Given the description of an element on the screen output the (x, y) to click on. 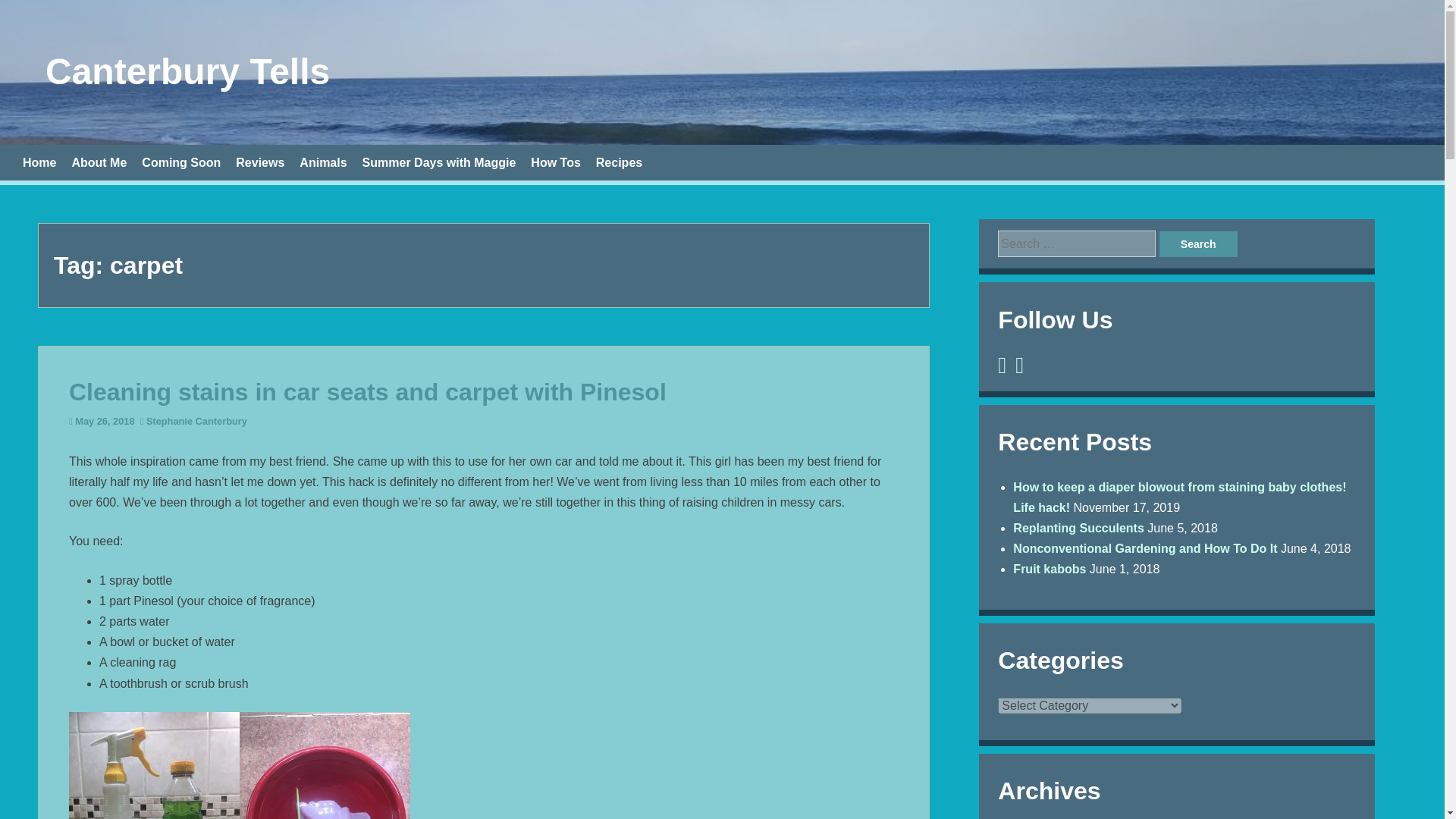
Nonconventional Gardening and How To Do It (1144, 548)
Home (39, 162)
Stephanie Canterbury (197, 420)
May 26, 2018 (104, 420)
Recipes (618, 162)
Reviews (259, 162)
Coming Soon (181, 162)
Canterbury Tells (187, 71)
Cleaning stains in car seats and carpet with Pinesol (367, 391)
Animals (322, 162)
Replanting Succulents (1077, 527)
How Tos (555, 162)
About Me (98, 162)
Search (1197, 243)
